Given the description of an element on the screen output the (x, y) to click on. 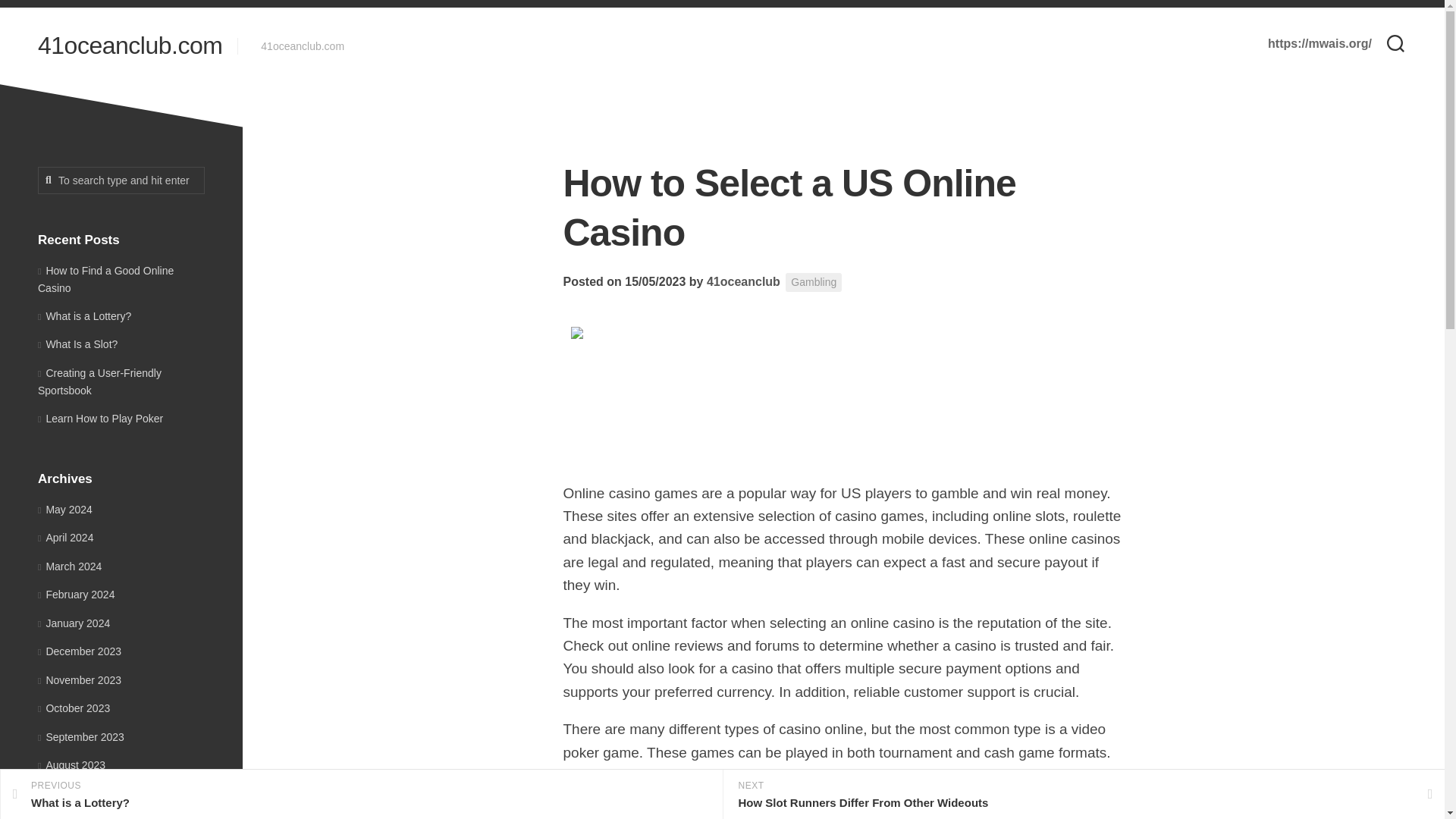
To search type and hit enter (121, 180)
How to Find a Good Online Casino (105, 278)
August 2023 (70, 765)
January 2024 (73, 623)
Gambling (813, 281)
41oceanclub.com (129, 44)
July 2023 (63, 793)
February 2024 (76, 594)
September 2023 (80, 736)
April 2024 (65, 537)
May 2024 (65, 509)
June 2023 (66, 817)
November 2023 (78, 679)
Creating a User-Friendly Sportsbook (99, 381)
41oceanclub (743, 281)
